Given the description of an element on the screen output the (x, y) to click on. 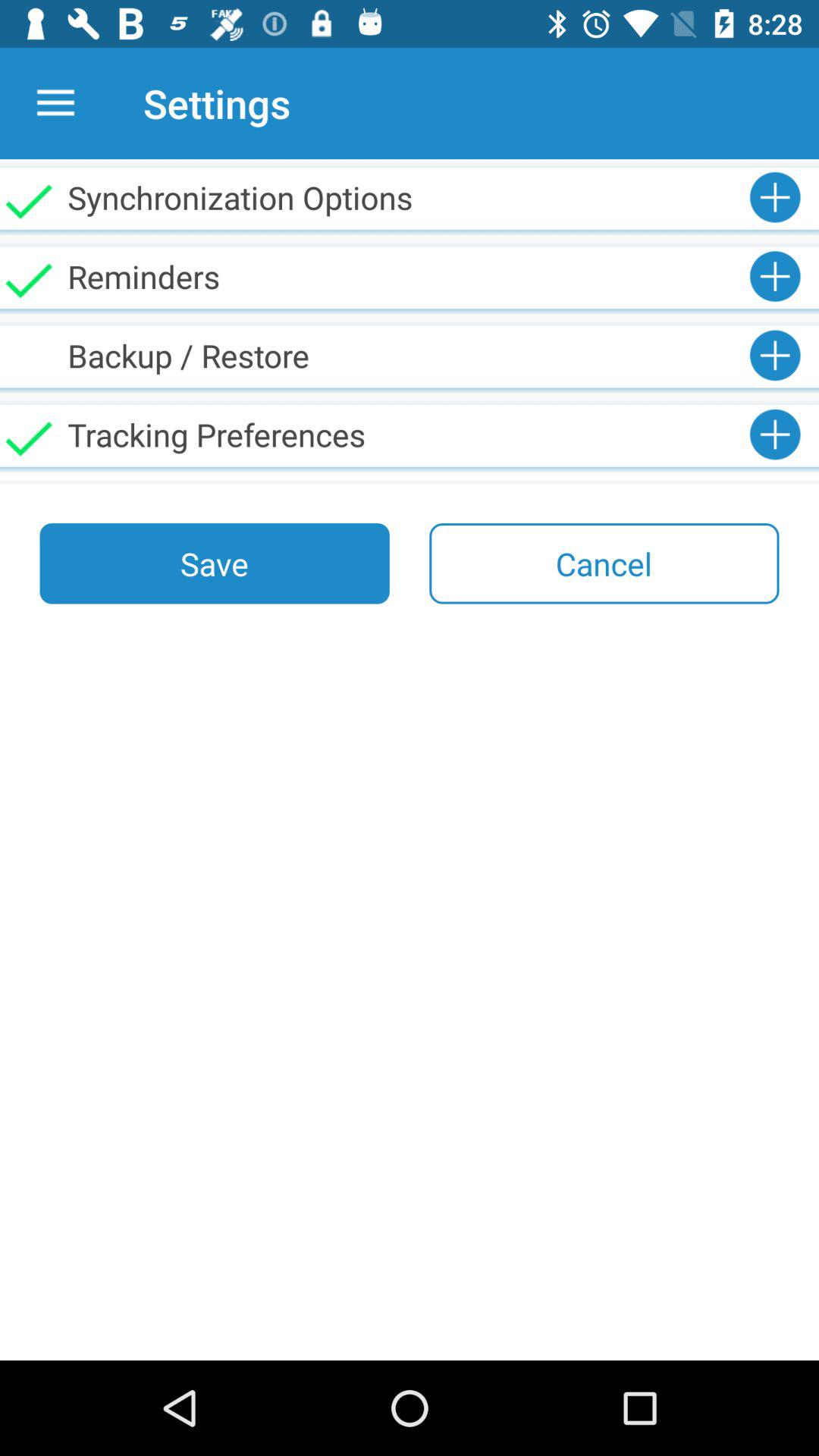
launch icon to the left of the cancel icon (214, 563)
